Given the description of an element on the screen output the (x, y) to click on. 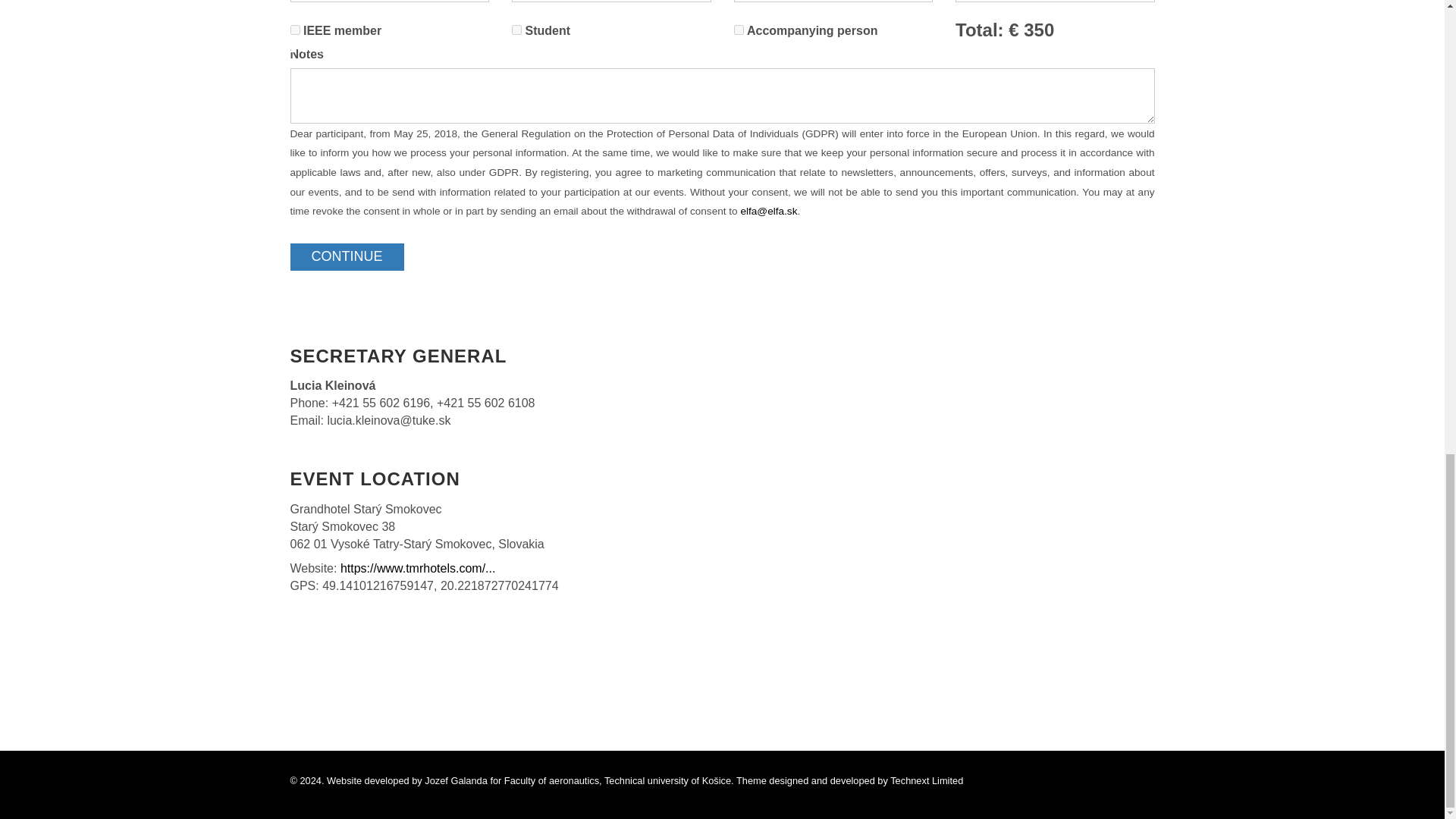
Technext Limited (925, 780)
Continue (346, 257)
on (516, 30)
on (738, 30)
Continue (346, 257)
on (294, 30)
